Given the description of an element on the screen output the (x, y) to click on. 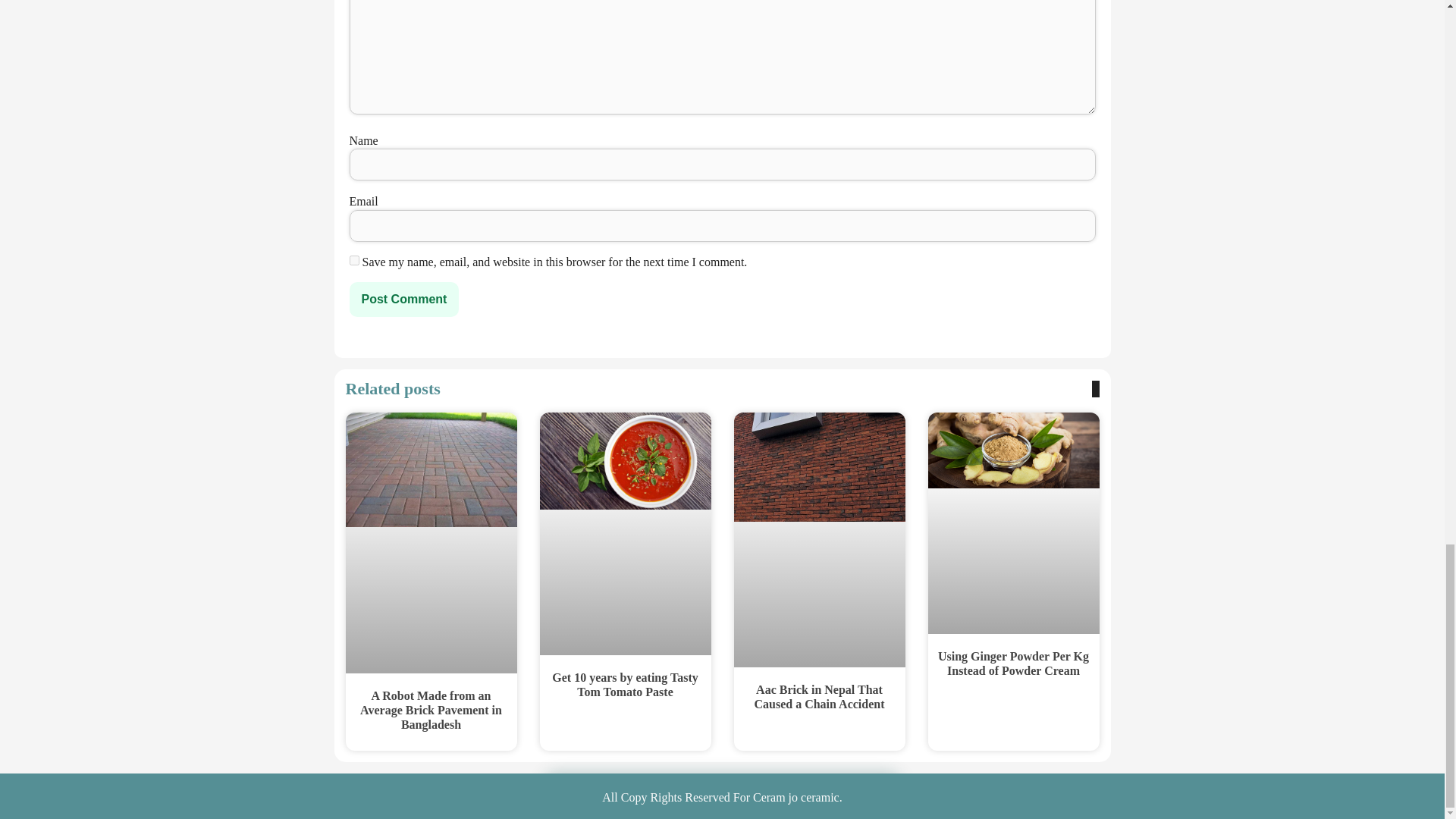
Using Ginger Powder Per Kg Instead of Powder Cream (1013, 663)
yes (353, 260)
A Robot Made from an Average Brick Pavement in Bangladesh (430, 710)
Aac Brick in Nepal That Caused a Chain Accident (818, 696)
Get 10 years by eating Tasty Tom Tomato Paste (624, 684)
Post Comment (403, 298)
Post Comment (403, 298)
